Given the description of an element on the screen output the (x, y) to click on. 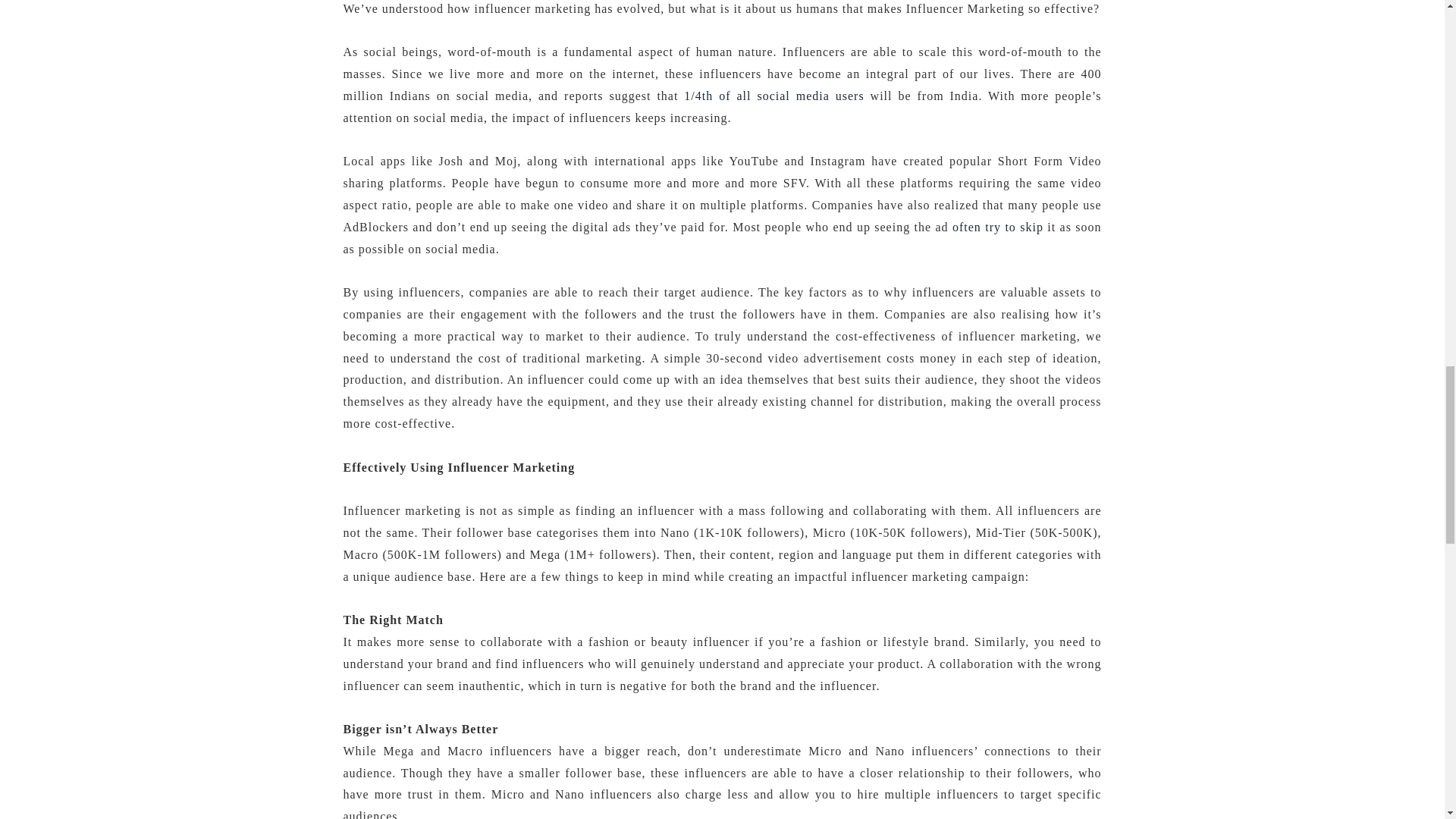
often try to skip (997, 226)
